Given the description of an element on the screen output the (x, y) to click on. 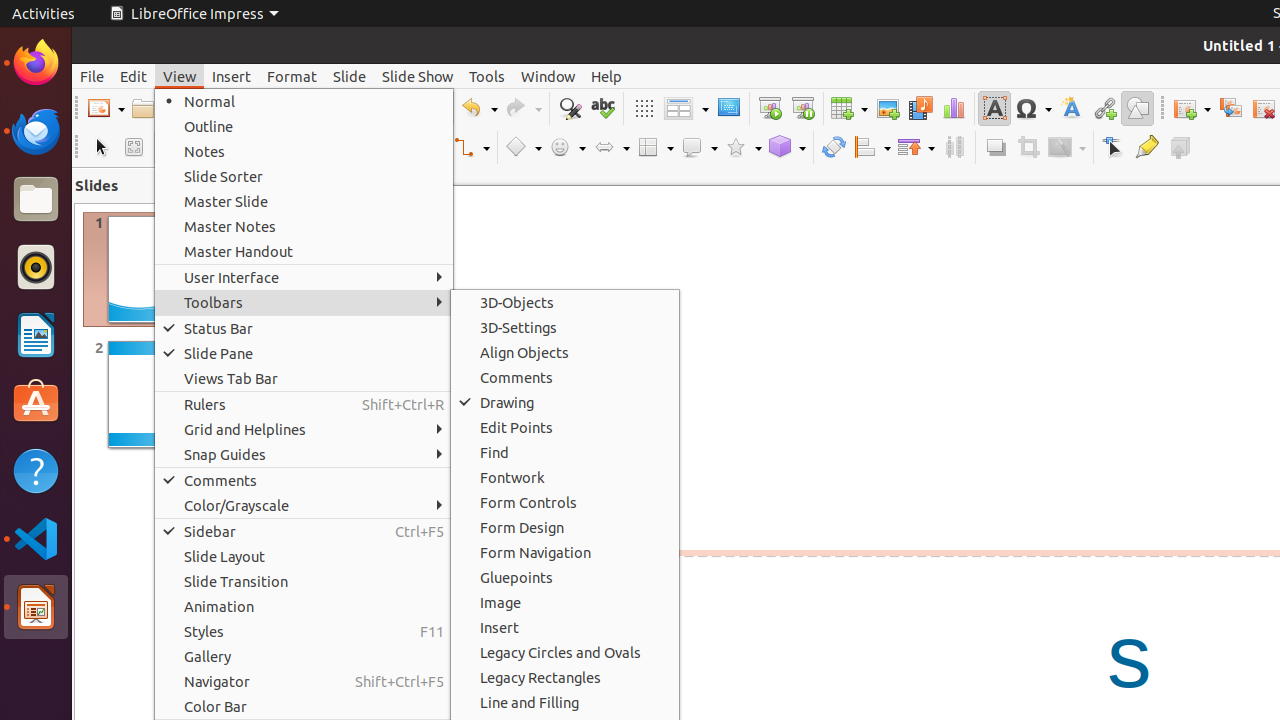
Rhythmbox Element type: push-button (36, 267)
Master Slide Element type: radio-menu-item (304, 201)
Slide Sorter Element type: radio-menu-item (304, 176)
Insert Element type: menu (231, 76)
Views Tab Bar Element type: check-menu-item (304, 378)
